Given the description of an element on the screen output the (x, y) to click on. 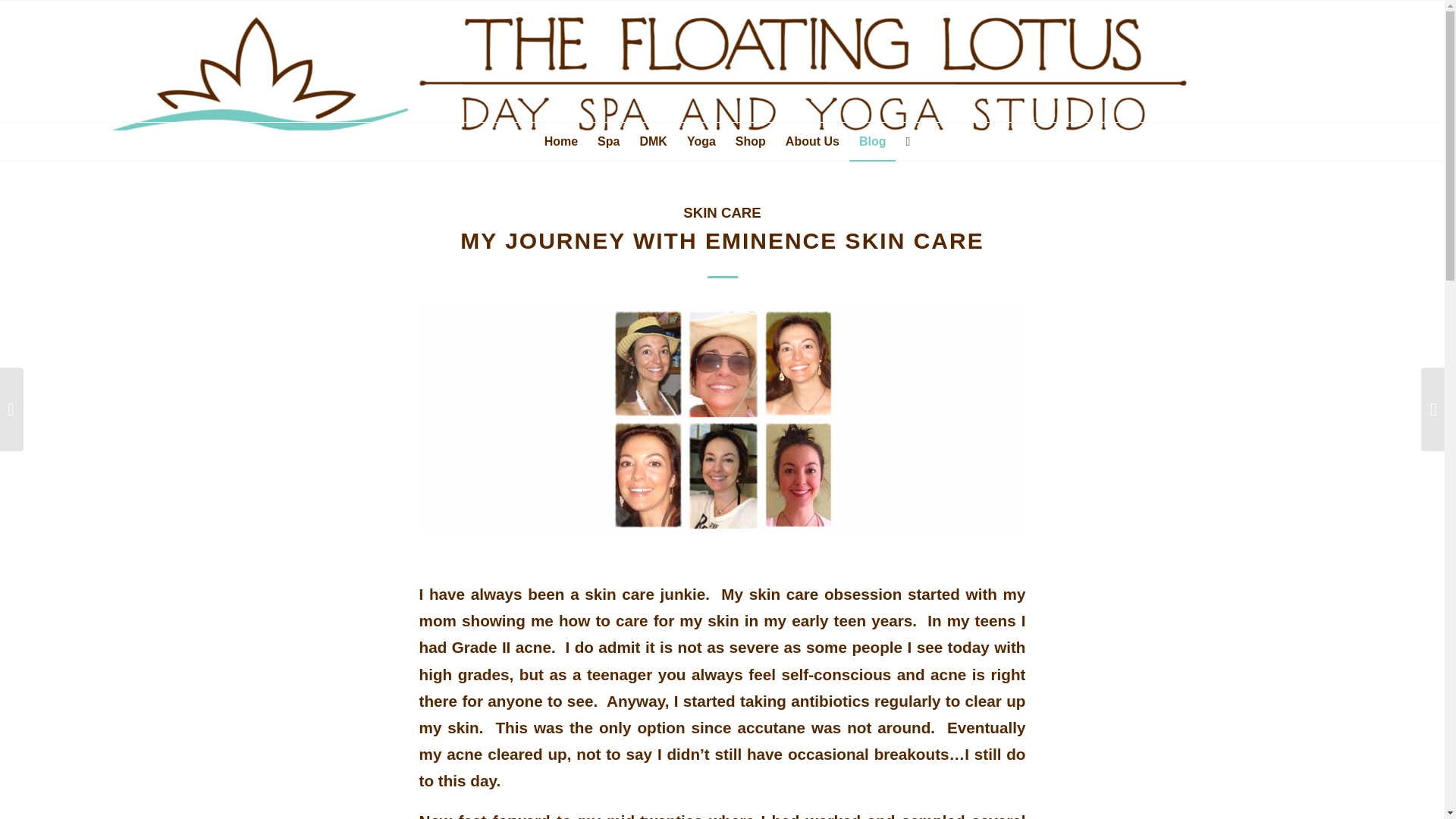
Spa (608, 141)
DMK (652, 141)
About Us (812, 141)
SKIN CARE (721, 212)
Shop (750, 141)
Home (561, 141)
Blog (872, 141)
Yoga (701, 141)
